Given the description of an element on the screen output the (x, y) to click on. 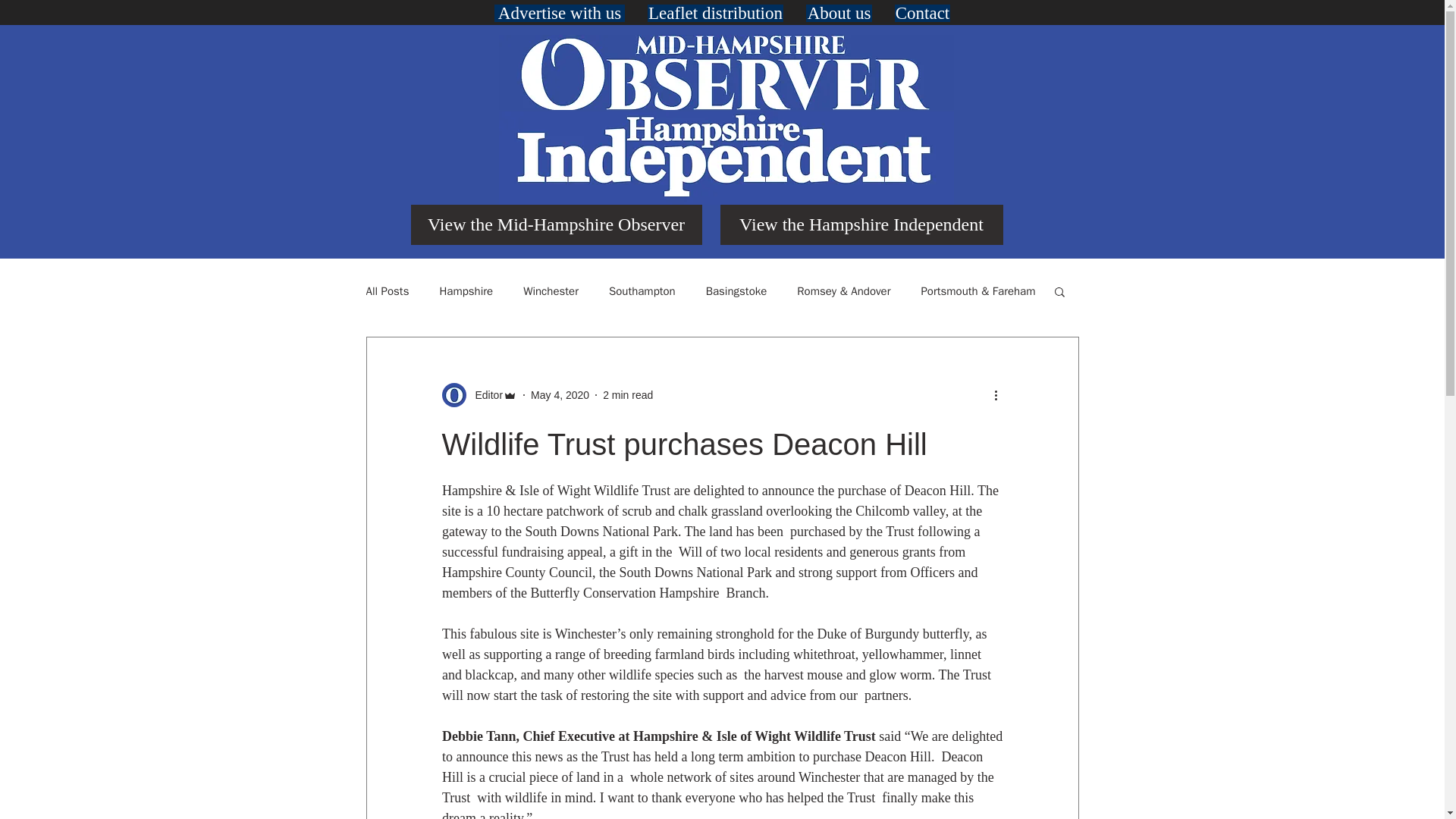
View the Mid-Hampshire Observer (555, 224)
Winchester (550, 290)
View the Hampshire Independent (861, 224)
Basingstoke (736, 290)
Advertise with us (559, 13)
May 4, 2020 (560, 394)
About us (839, 13)
All Posts (387, 290)
2 min read (627, 394)
Hampshire (466, 290)
Southampton (641, 290)
Editor (483, 394)
Leaflet distribution (715, 13)
Contact (922, 13)
